Given the description of an element on the screen output the (x, y) to click on. 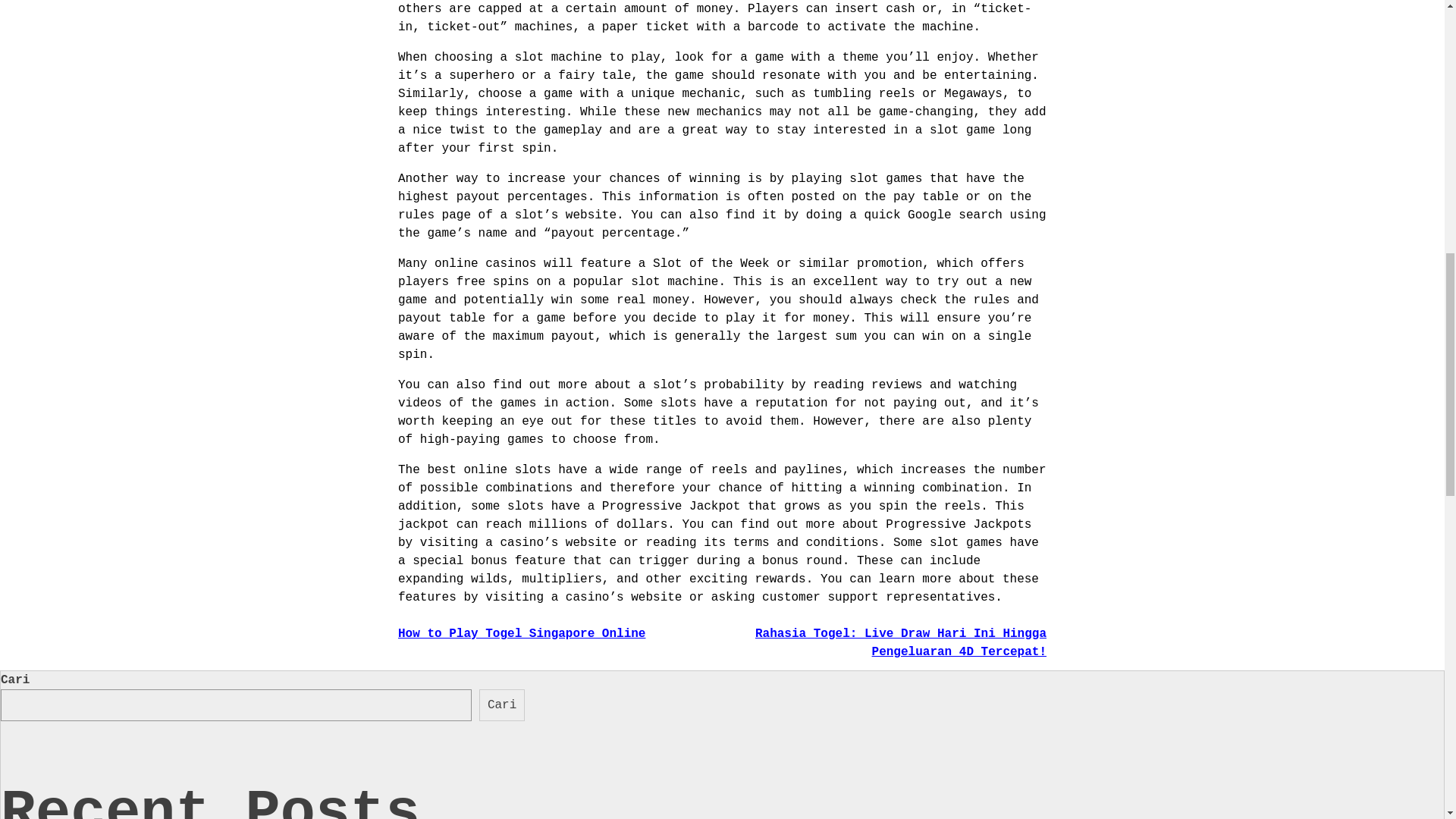
Cari (501, 705)
How to Play Togel Singapore Online (521, 633)
